Given the description of an element on the screen output the (x, y) to click on. 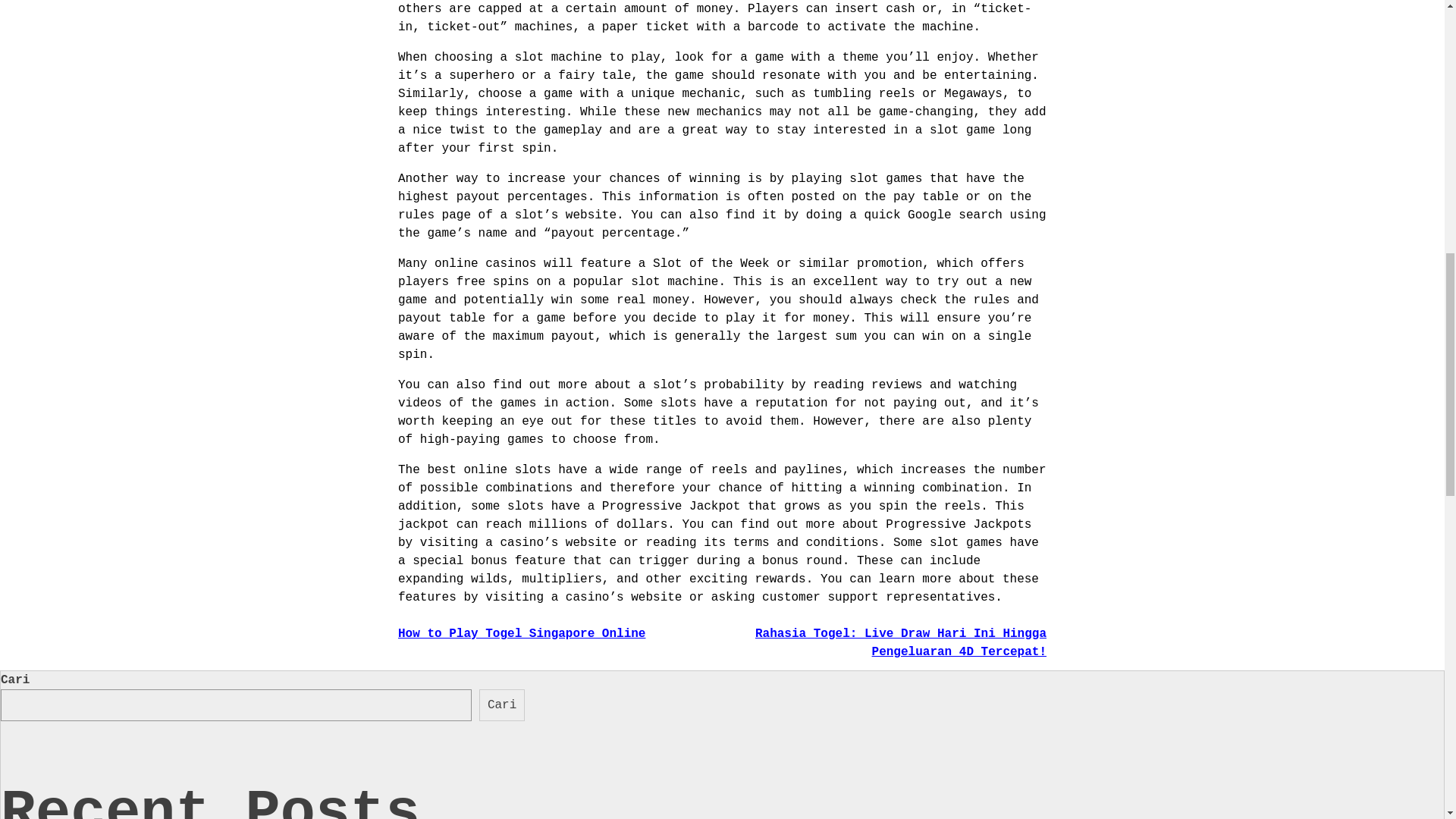
Cari (501, 705)
How to Play Togel Singapore Online (521, 633)
